Given the description of an element on the screen output the (x, y) to click on. 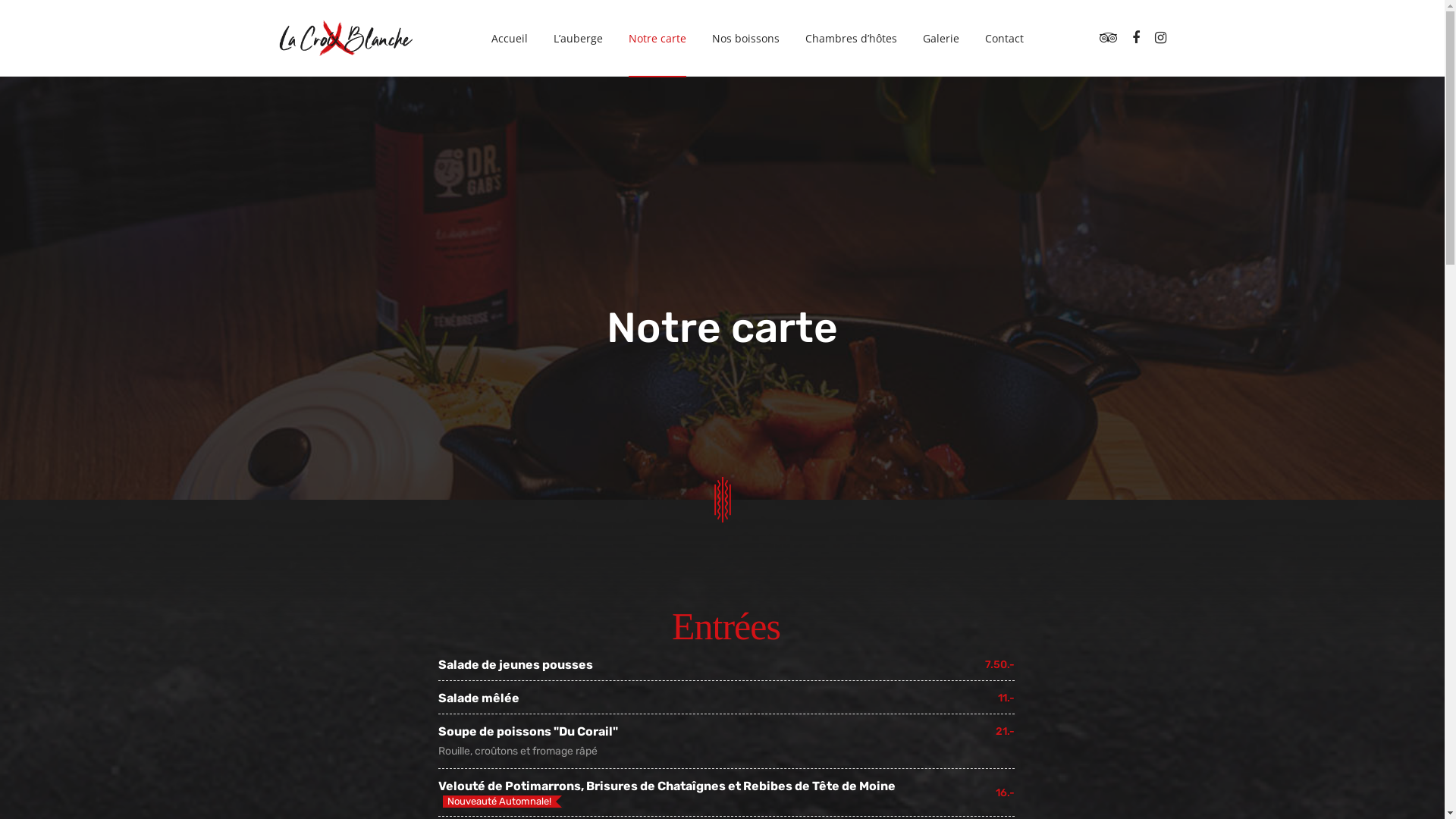
Notre carte Element type: text (656, 37)
Contact Element type: text (1003, 37)
Galerie Element type: text (940, 37)
Accueil Element type: text (509, 37)
Nos boissons Element type: text (744, 37)
La Croix Blanche - Auberge de Lavigny Element type: hover (345, 36)
